Given the description of an element on the screen output the (x, y) to click on. 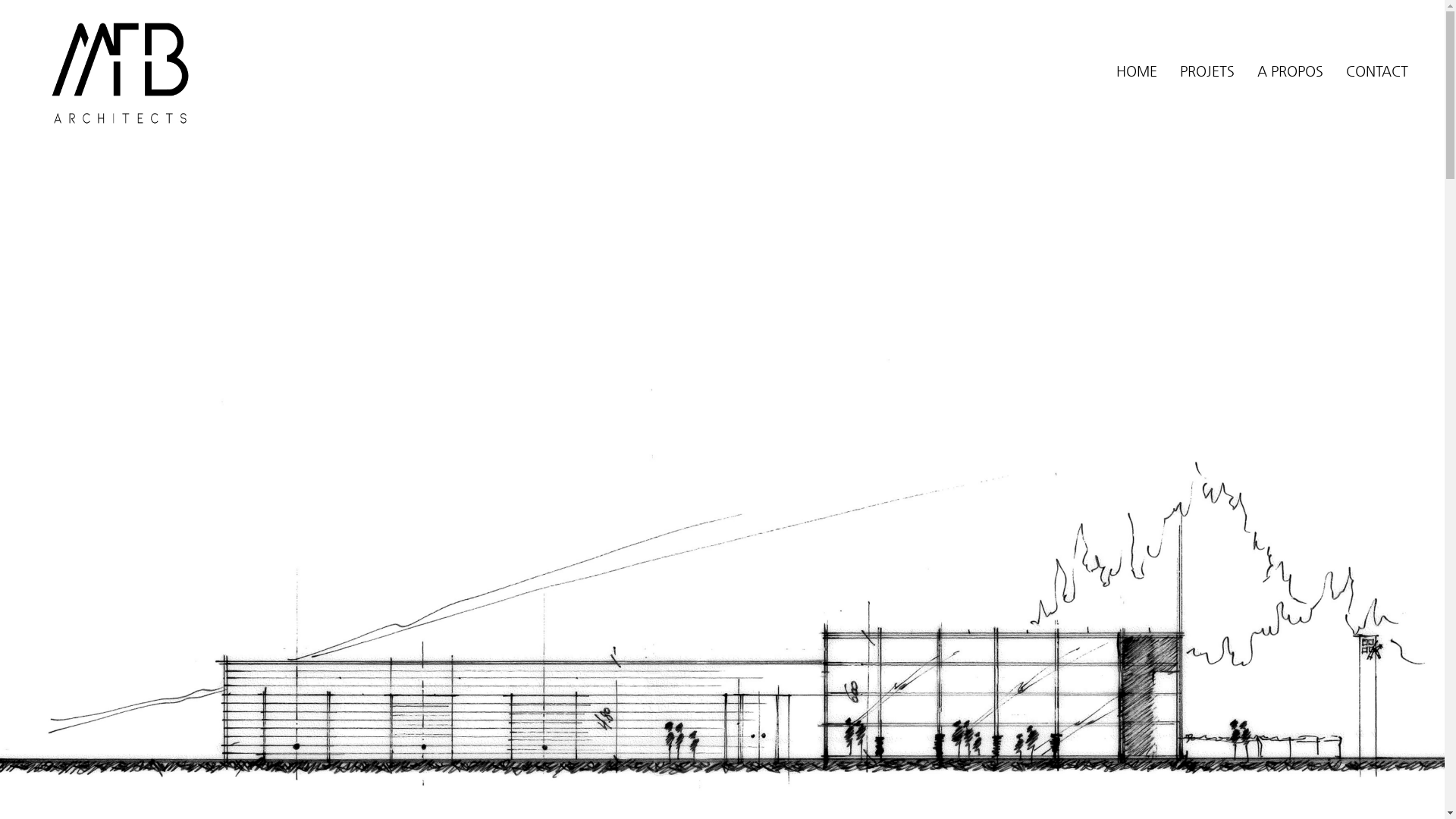
CONTACT Element type: text (1376, 71)
A PROPOS Element type: text (1289, 71)
PROJETS Element type: text (1206, 71)
HOME Element type: text (1136, 71)
